Given the description of an element on the screen output the (x, y) to click on. 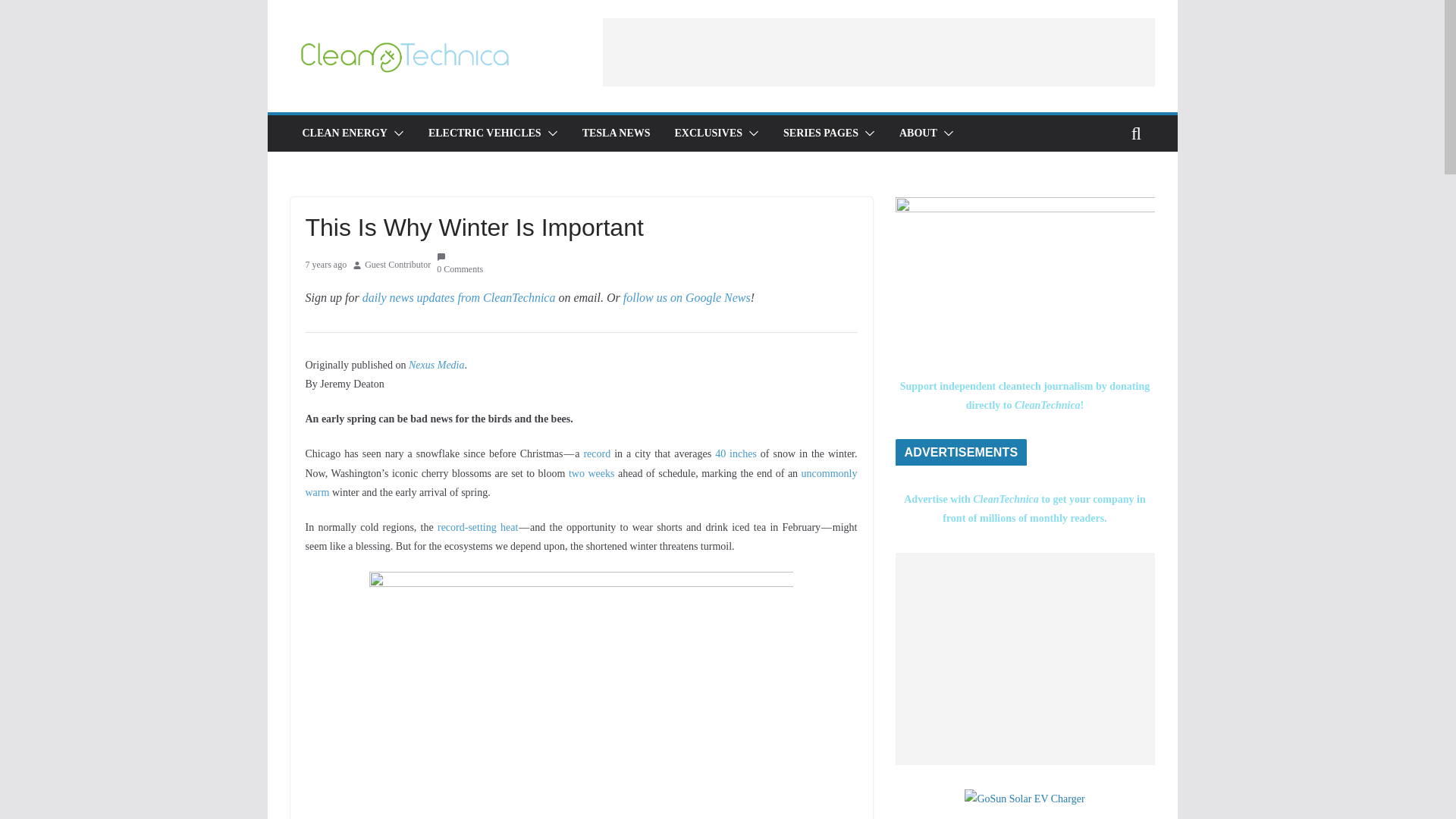
Advertisement (878, 52)
ELECTRIC VEHICLES (484, 133)
Guest Contributor (397, 265)
EXCLUSIVES (708, 133)
SERIES PAGES (821, 133)
TESLA NEWS (616, 133)
CLEAN ENERGY (344, 133)
